Given the description of an element on the screen output the (x, y) to click on. 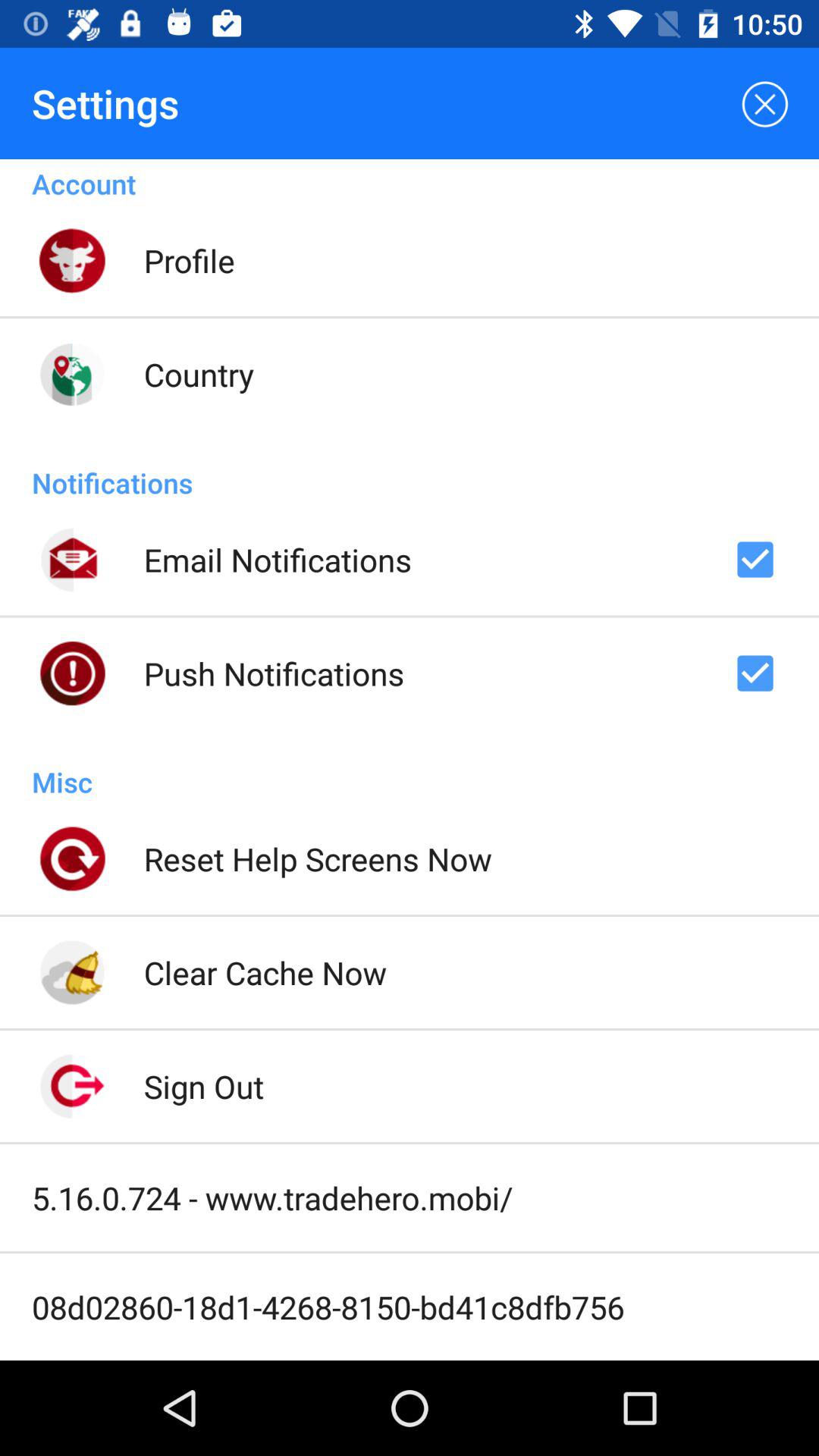
turn off icon to the right of the settings (763, 103)
